Given the description of an element on the screen output the (x, y) to click on. 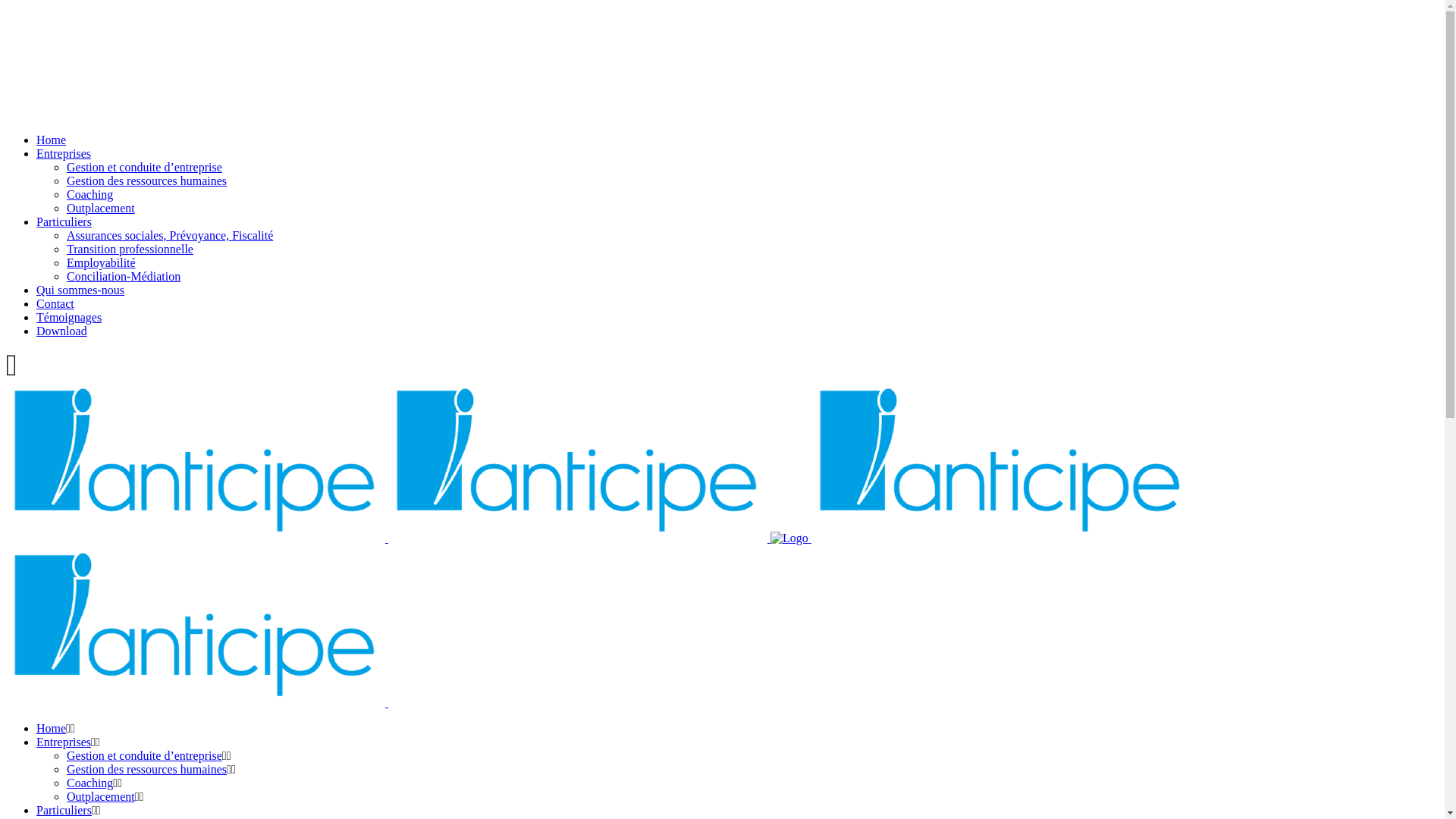
Coaching Element type: text (89, 194)
Outplacement Element type: text (100, 796)
Home Element type: text (50, 139)
Coaching Element type: text (89, 782)
Home Element type: text (50, 727)
Entreprises Element type: text (63, 741)
Contact Element type: text (55, 303)
Download Element type: text (61, 330)
Particuliers Element type: text (63, 809)
Entreprises Element type: text (63, 153)
Gestion des ressources humaines Element type: text (146, 768)
Qui sommes-nous Element type: text (80, 289)
Transition professionnelle Element type: text (129, 248)
Particuliers Element type: text (63, 221)
Outplacement Element type: text (100, 207)
Gestion des ressources humaines Element type: text (146, 180)
